Given the description of an element on the screen output the (x, y) to click on. 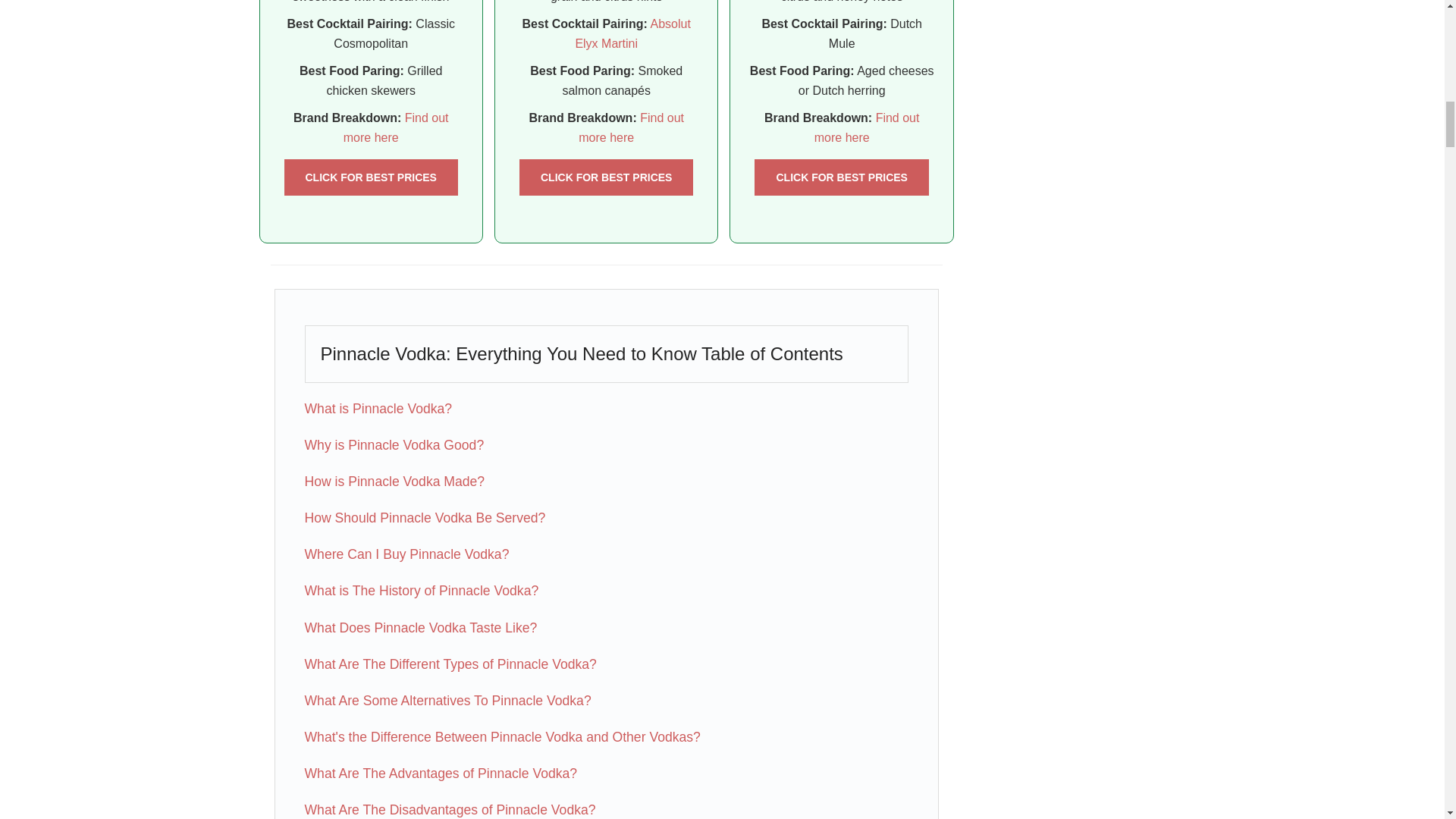
vd-recommends-this (606, 176)
Find out more here (395, 127)
vd-recommends-this (841, 176)
vd-recommends-this (370, 176)
